Given the description of an element on the screen output the (x, y) to click on. 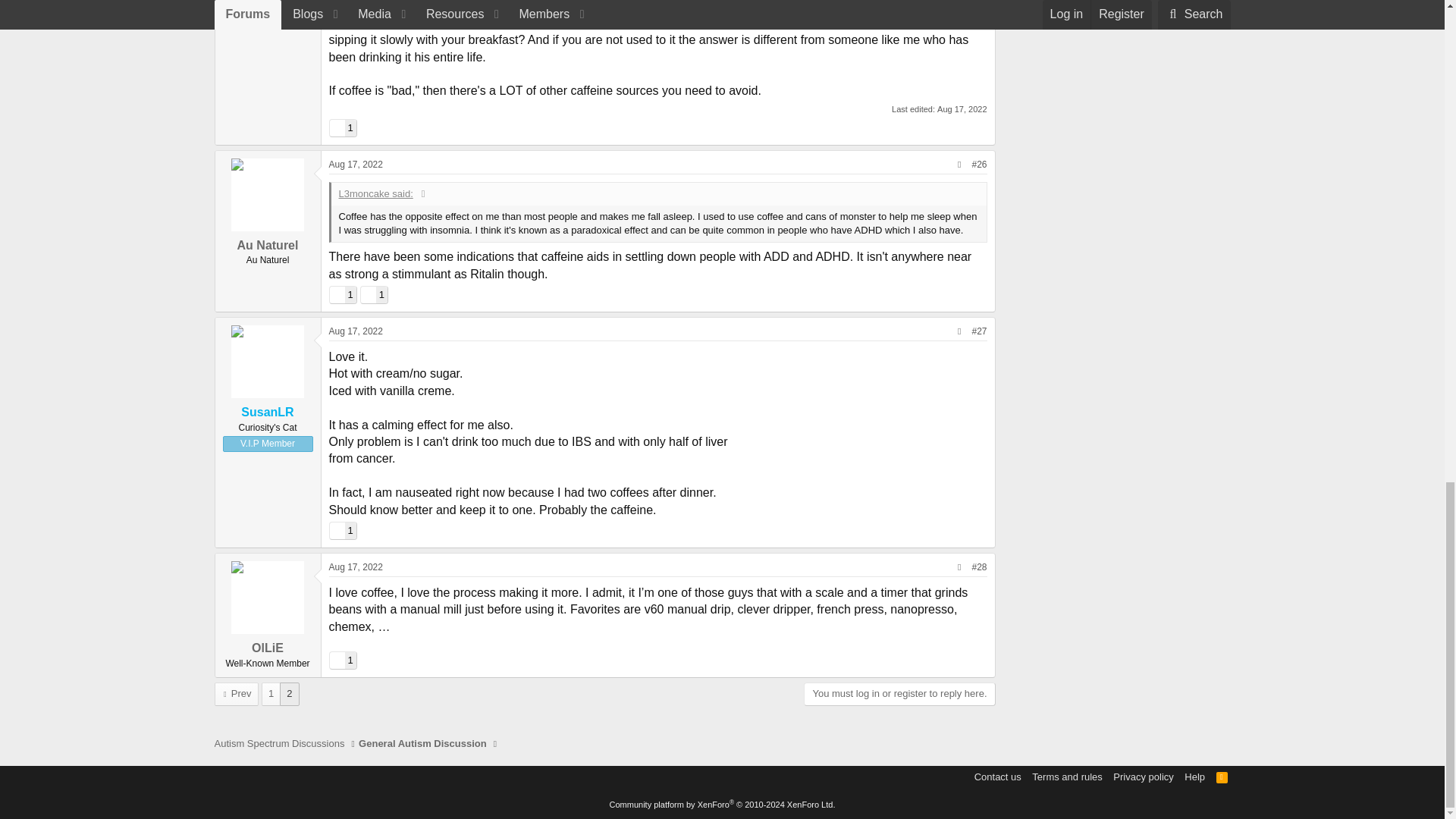
Aug 17, 2022 at 12:14 AM (962, 108)
Like (336, 128)
Like (342, 127)
